Given the description of an element on the screen output the (x, y) to click on. 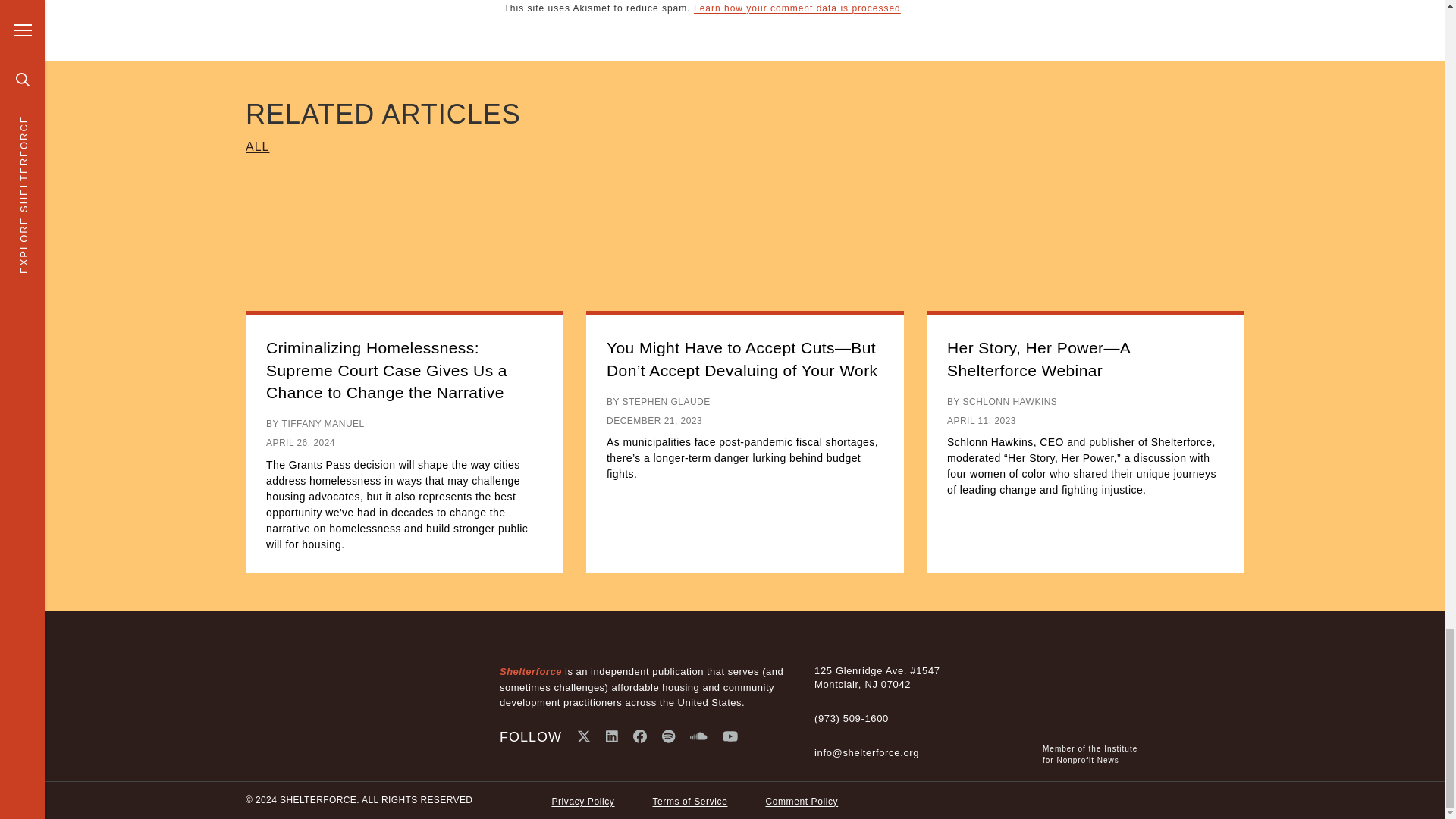
YouTube (730, 735)
Spotify (668, 735)
Twitter (583, 735)
Soundcloud (698, 735)
Facebook (639, 735)
